Given the description of an element on the screen output the (x, y) to click on. 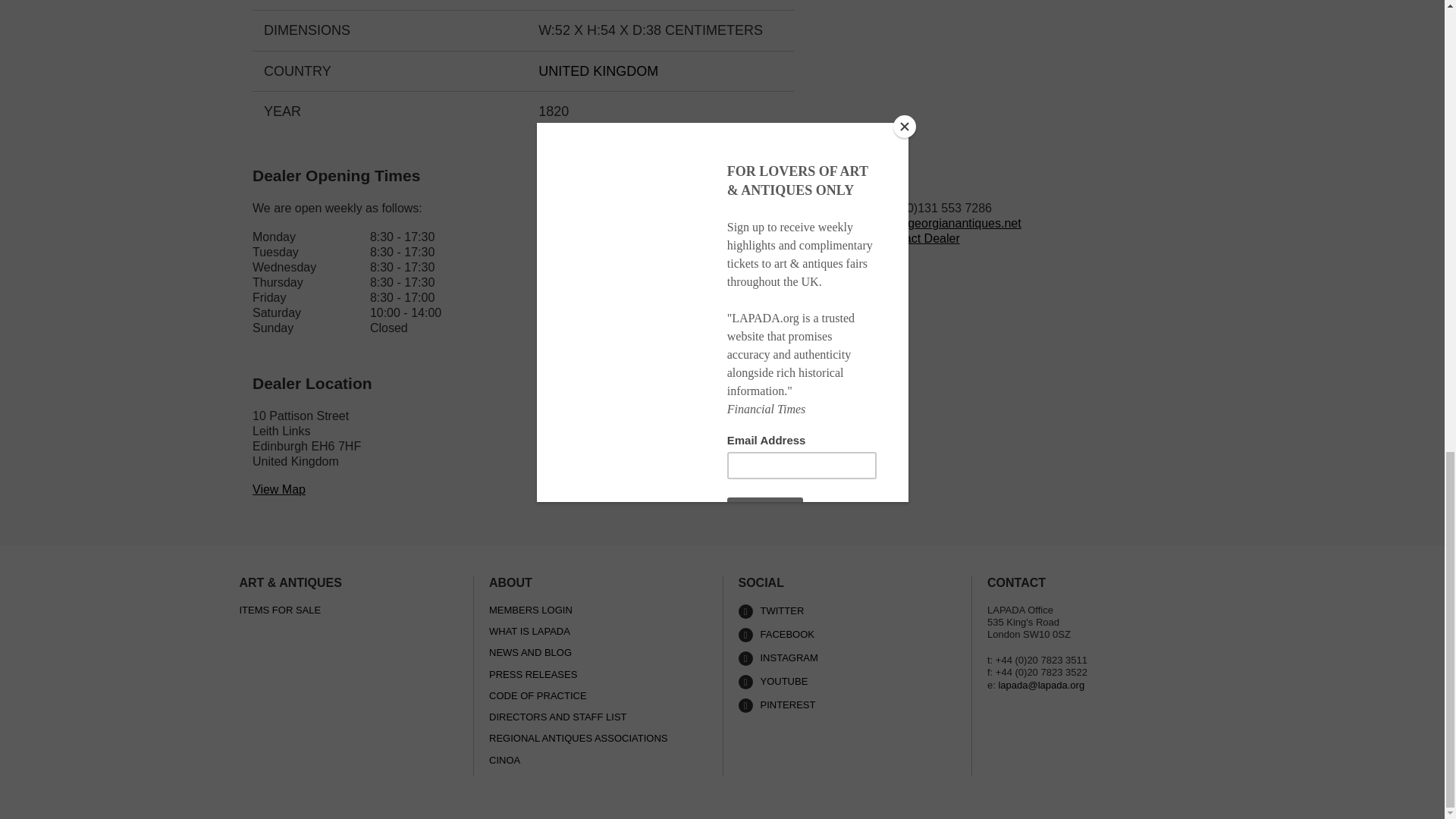
Follow us on Twitter (847, 611)
Learn more about LAPADA (847, 681)
Like us on Facebook (847, 635)
